Given the description of an element on the screen output the (x, y) to click on. 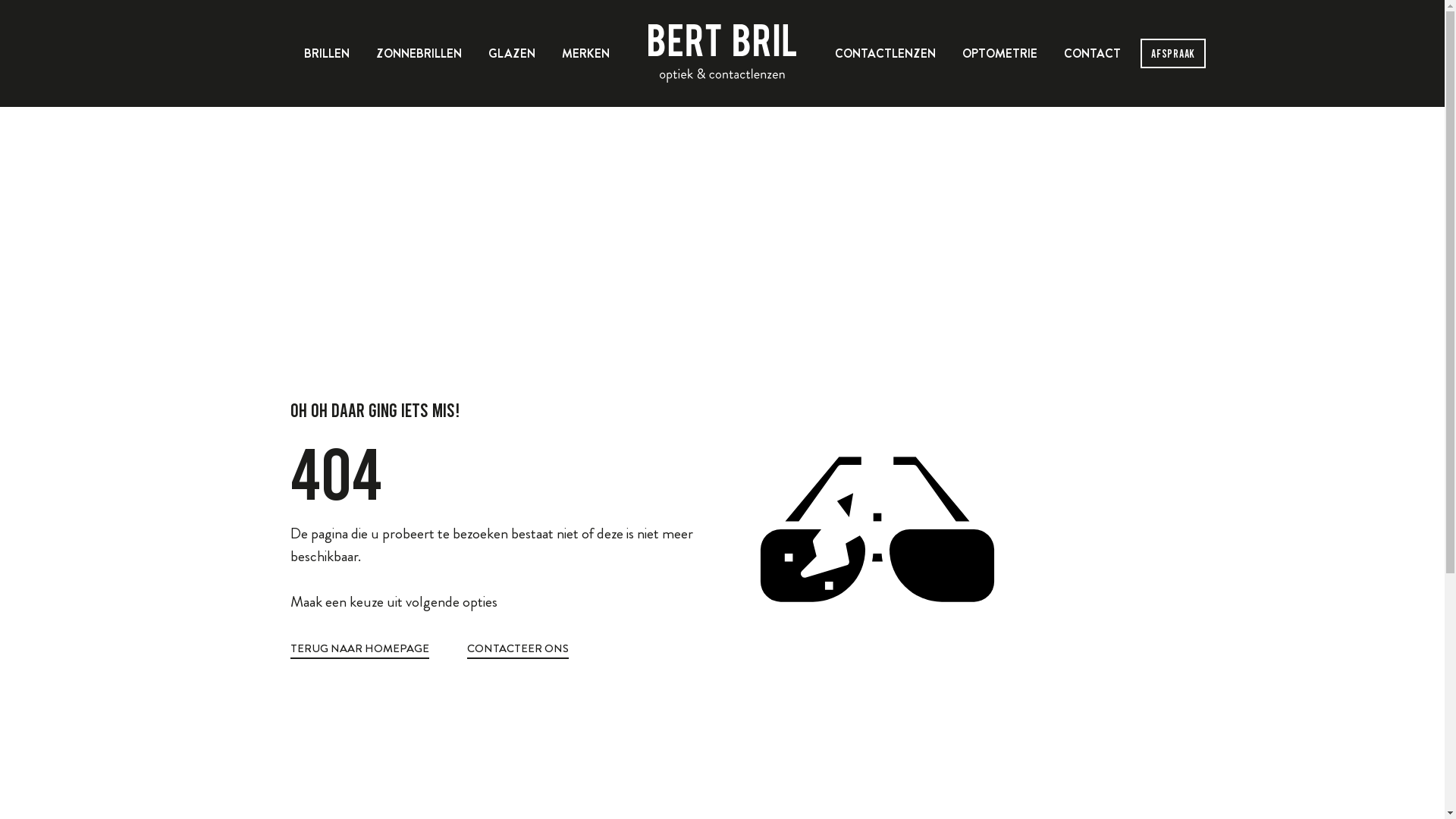
CONTACTEER ONS Element type: text (517, 650)
Afspraak Element type: text (1172, 53)
CONTACT Element type: text (1091, 53)
OPTOMETRIE Element type: text (999, 53)
CONTACTLENZEN Element type: text (884, 53)
MERKEN Element type: text (585, 53)
TERUG NAAR HOMEPAGE Element type: text (358, 650)
BRILLEN Element type: text (326, 53)
ZONNEBRILLEN Element type: text (418, 53)
GLAZEN Element type: text (511, 53)
